Given the description of an element on the screen output the (x, y) to click on. 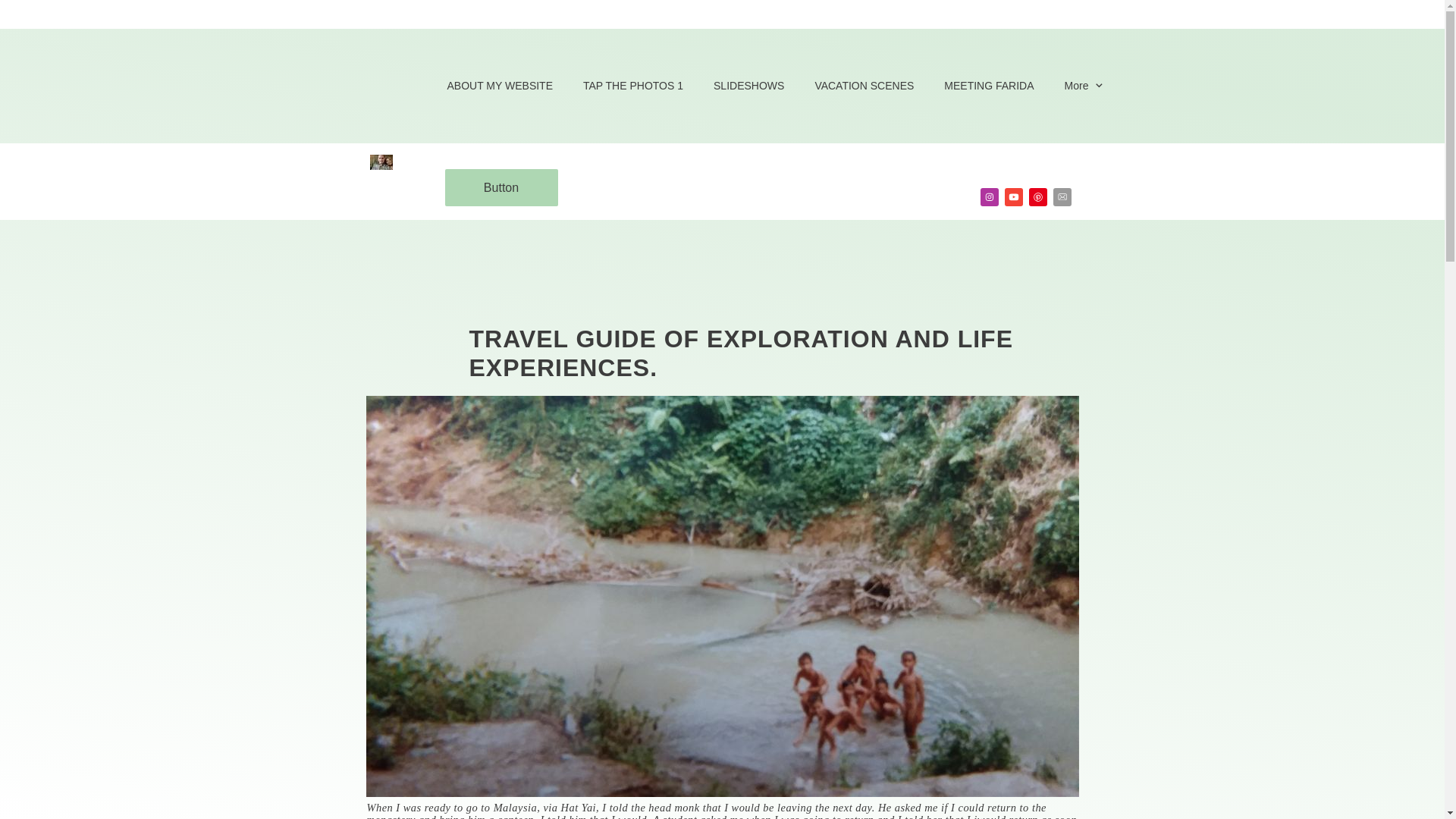
MEETING FARIDA (988, 85)
TAP THE PHOTOS 1 (632, 85)
SLIDESHOWS (748, 85)
More (1085, 85)
ABOUT MY WEBSITE (498, 85)
VACATION SCENES (863, 85)
